Given the description of an element on the screen output the (x, y) to click on. 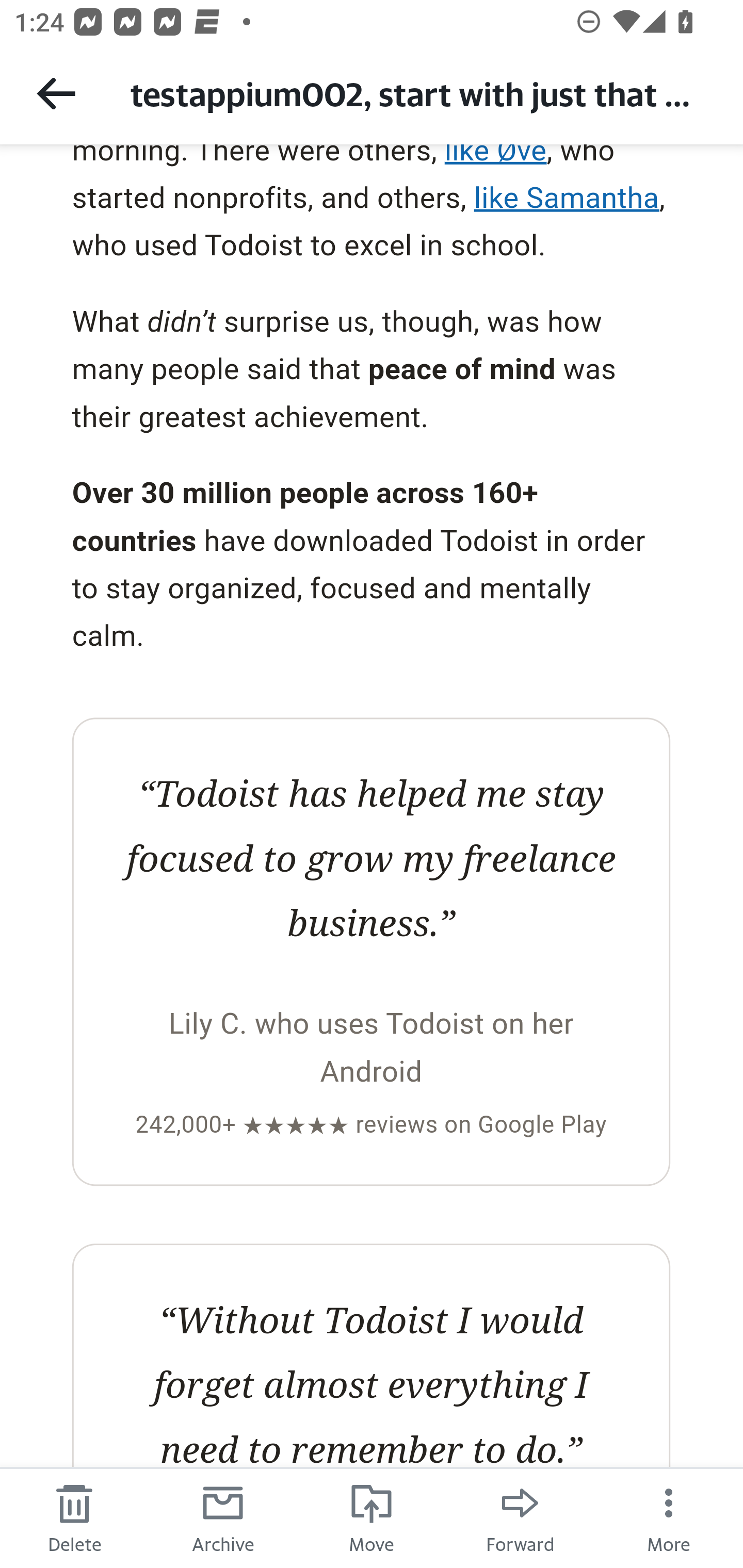
Back (55, 92)
like Øve (495, 156)
like Samantha (566, 197)
Delete (74, 1517)
Archive (222, 1517)
Move (371, 1517)
Forward (519, 1517)
More (668, 1517)
